Given the description of an element on the screen output the (x, y) to click on. 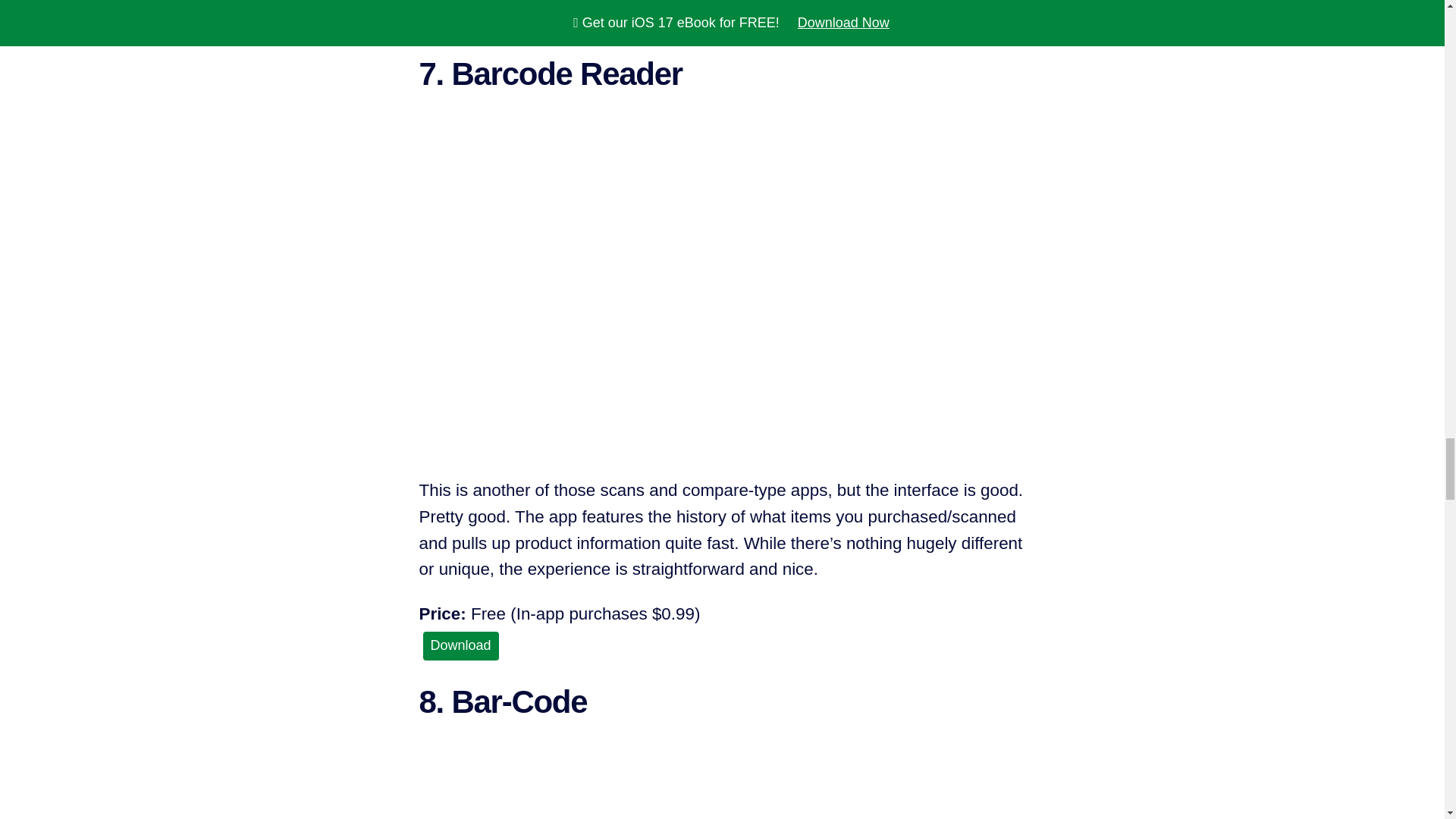
Best barcode scanner apps for iPhone in 2024 (722, 788)
Download (461, 18)
Download (461, 645)
